Given the description of an element on the screen output the (x, y) to click on. 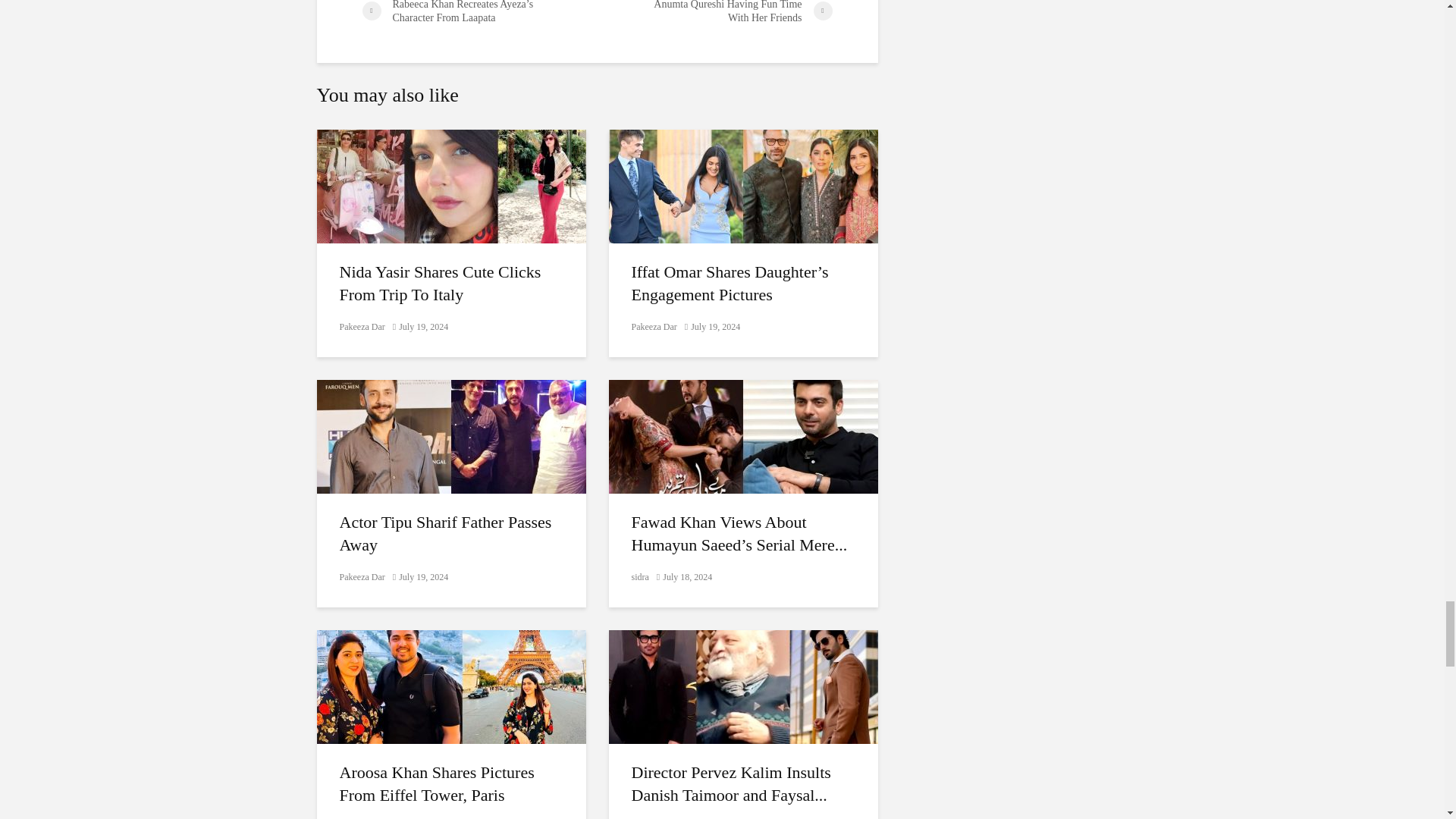
Anumta Qureshi Having Fun Time With Her Friends (714, 12)
